Given the description of an element on the screen output the (x, y) to click on. 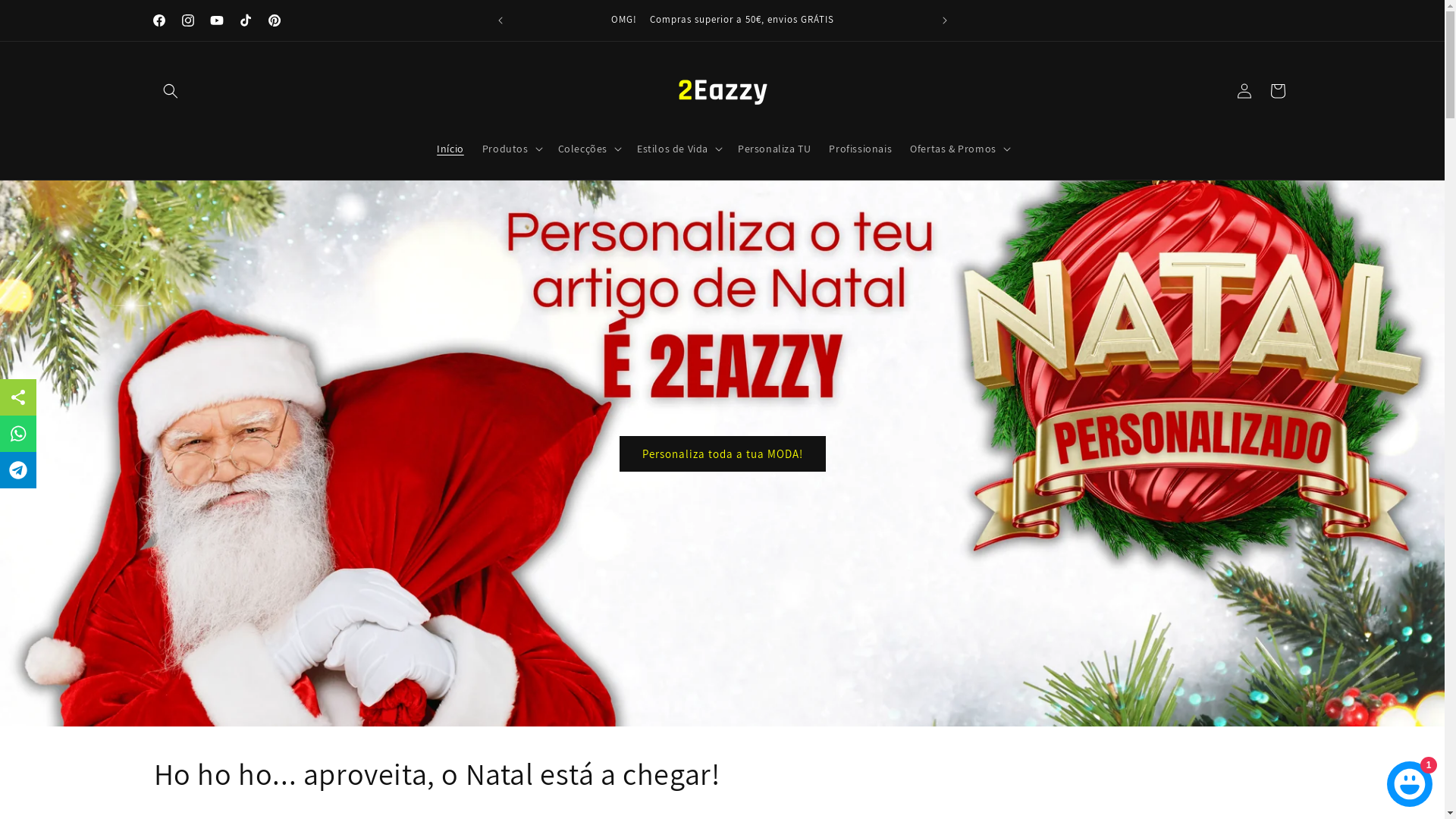
YouTube Element type: text (215, 20)
Profissionais Element type: text (859, 148)
Personaliza TU Element type: text (773, 148)
Personaliza toda a tua MODA! Element type: text (721, 453)
Carrinho Element type: text (1276, 90)
Pinterest Element type: text (273, 20)
Instagram Element type: text (186, 20)
Conversa da loja online da Shopify Element type: hover (1409, 780)
Facebook Element type: text (158, 20)
TikTok Element type: text (244, 20)
